Given the description of an element on the screen output the (x, y) to click on. 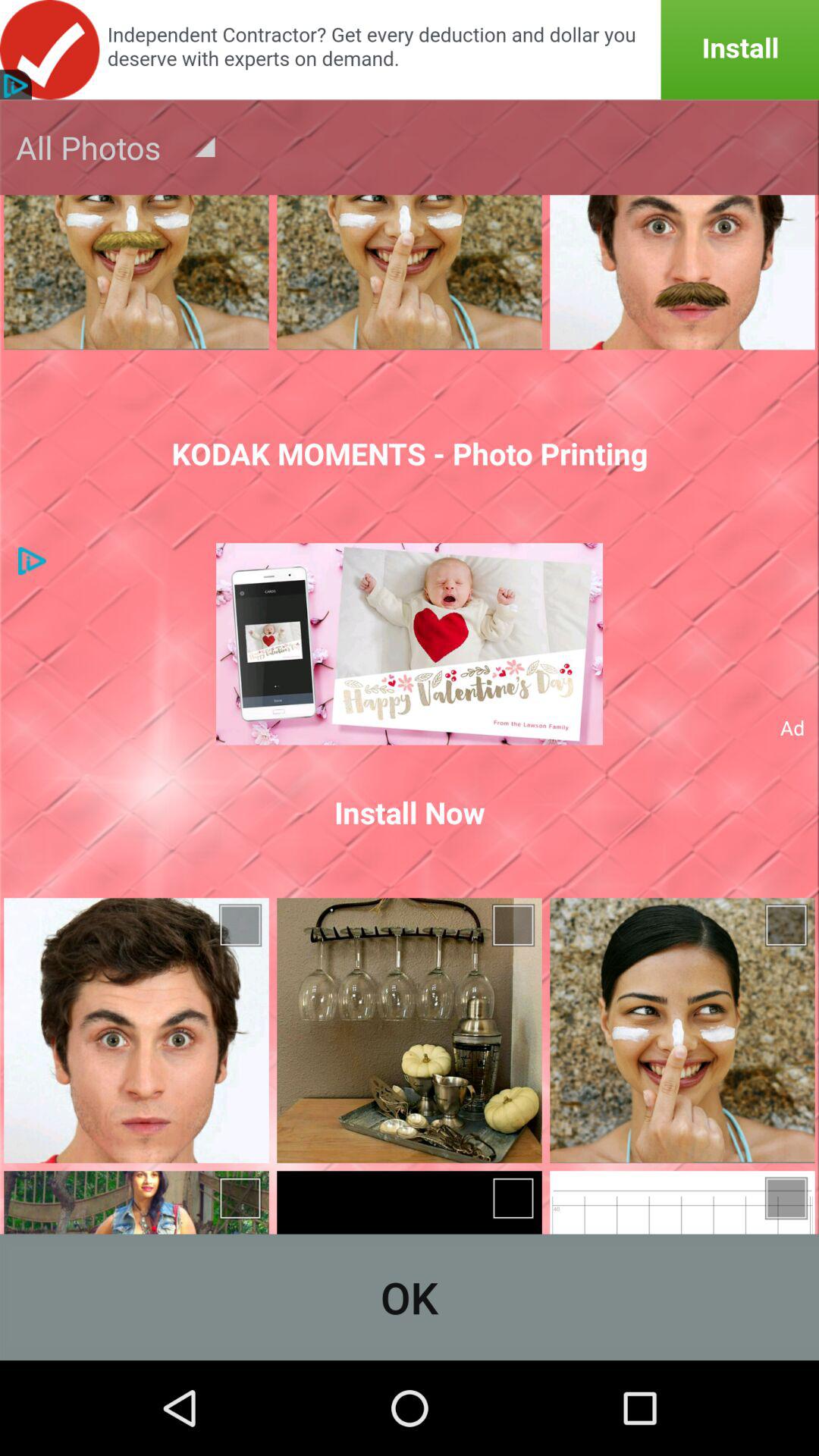
announcement (409, 49)
